Given the description of an element on the screen output the (x, y) to click on. 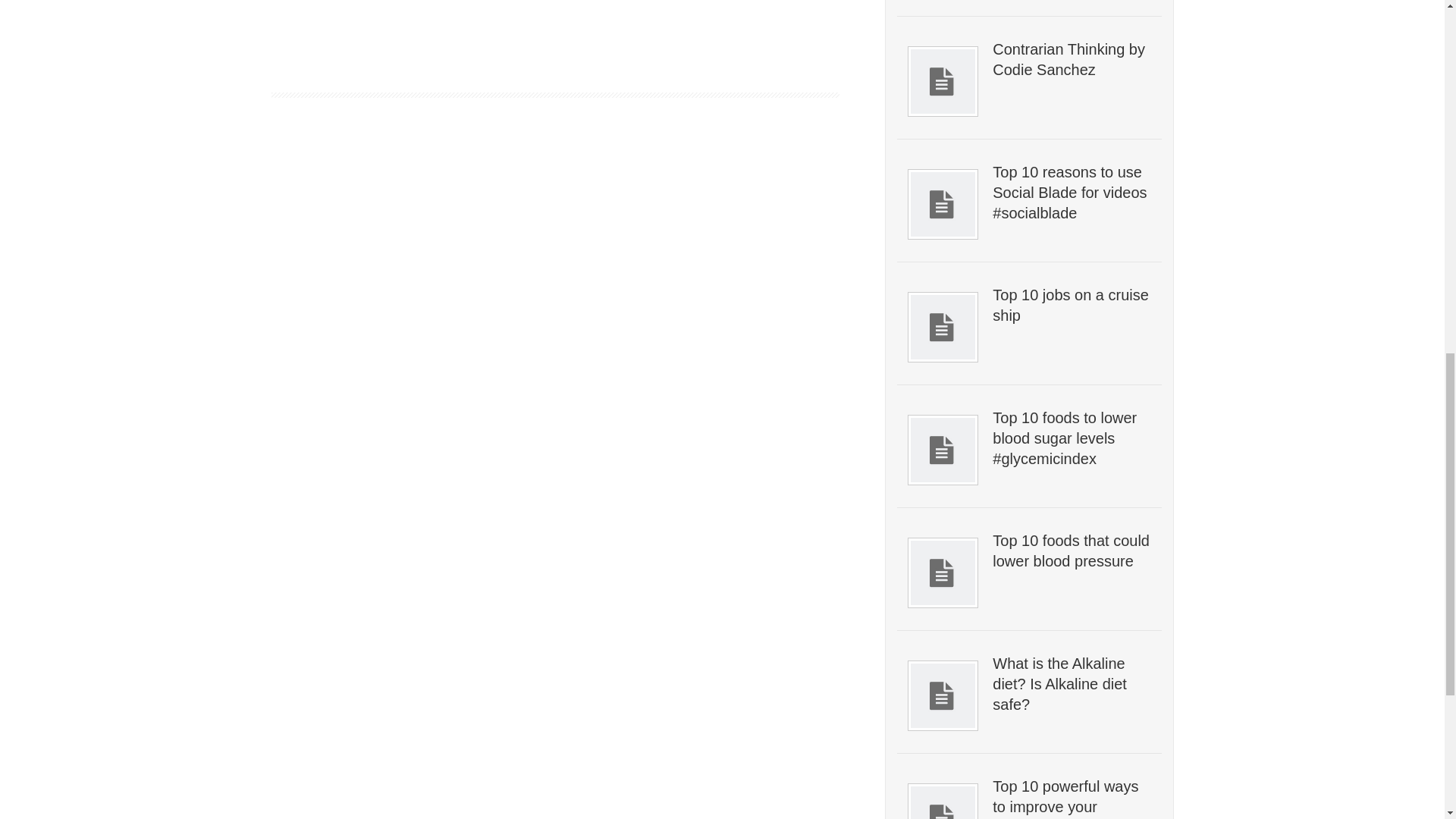
Contrarian Thinking by Codie Sanchez (1071, 59)
Top 10 jobs on a cruise ship (1071, 305)
